Given the description of an element on the screen output the (x, y) to click on. 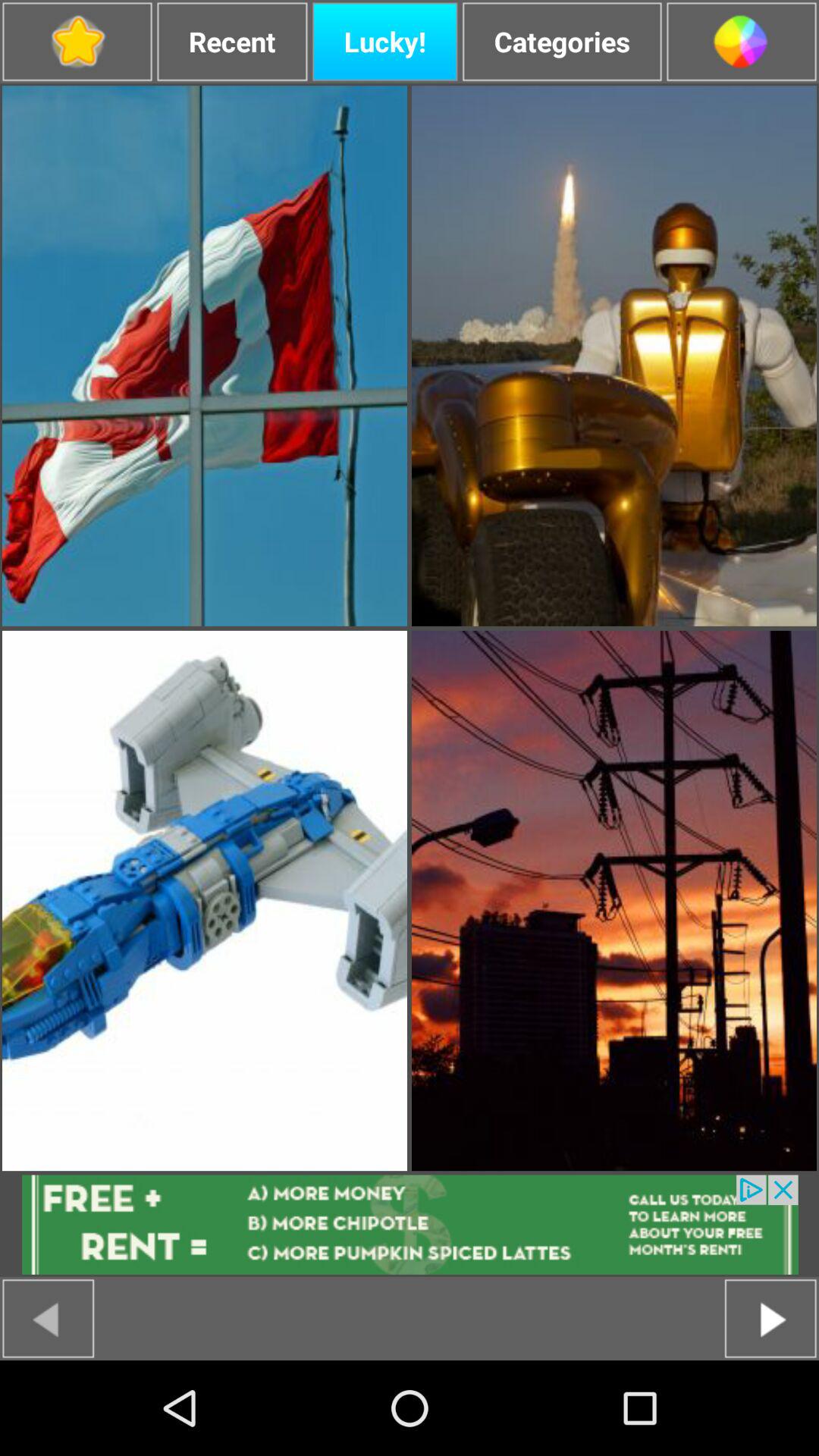
click on the forward play button (770, 1317)
click on first image below the button recent (204, 355)
select the fourth image at the right side (613, 900)
